Given the description of an element on the screen output the (x, y) to click on. 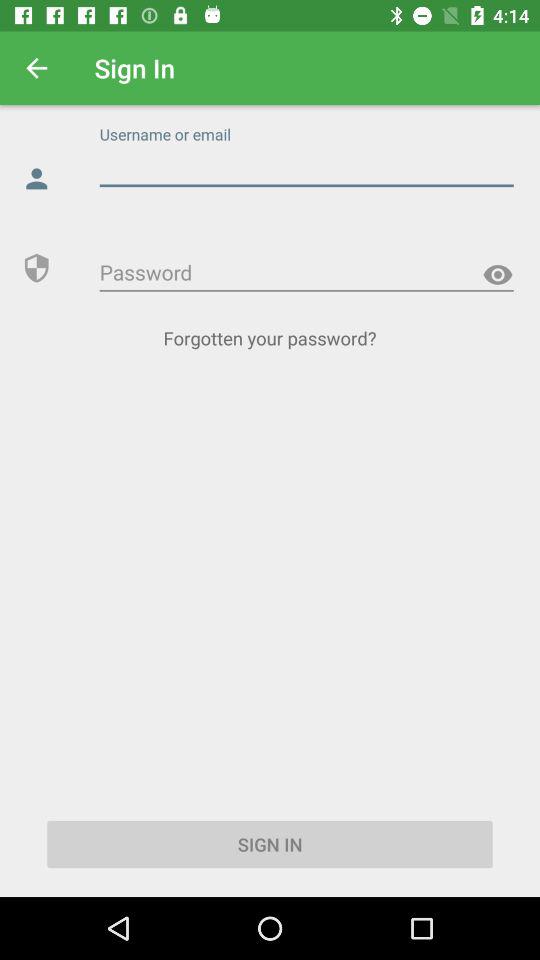
enter e-mail address (306, 168)
